Given the description of an element on the screen output the (x, y) to click on. 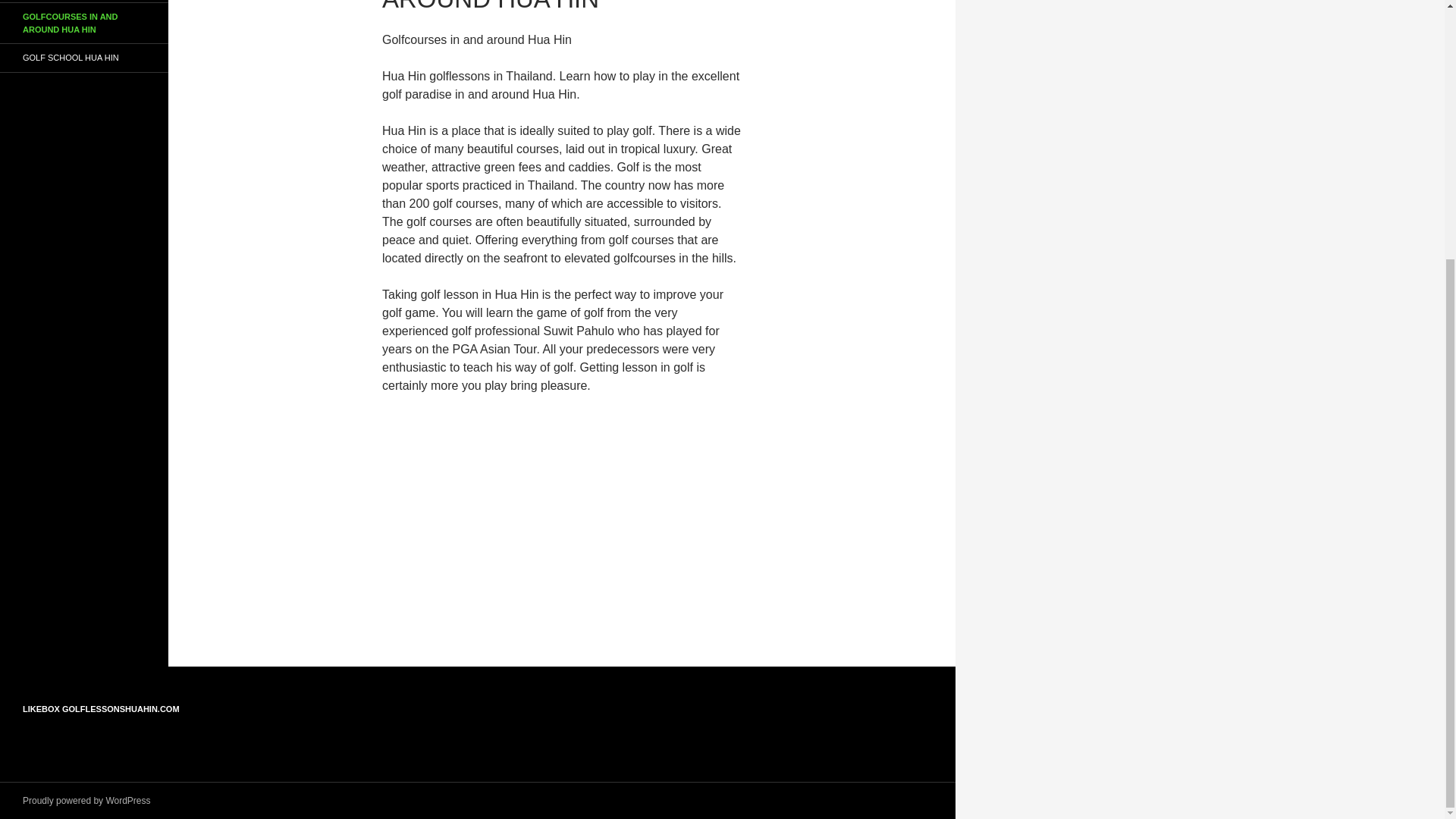
CONTACT (84, 1)
GOLFCOURSES IN AND AROUND HUA HIN (84, 23)
Proudly powered by WordPress (87, 800)
GOLF SCHOOL HUA HIN (84, 58)
